Given the description of an element on the screen output the (x, y) to click on. 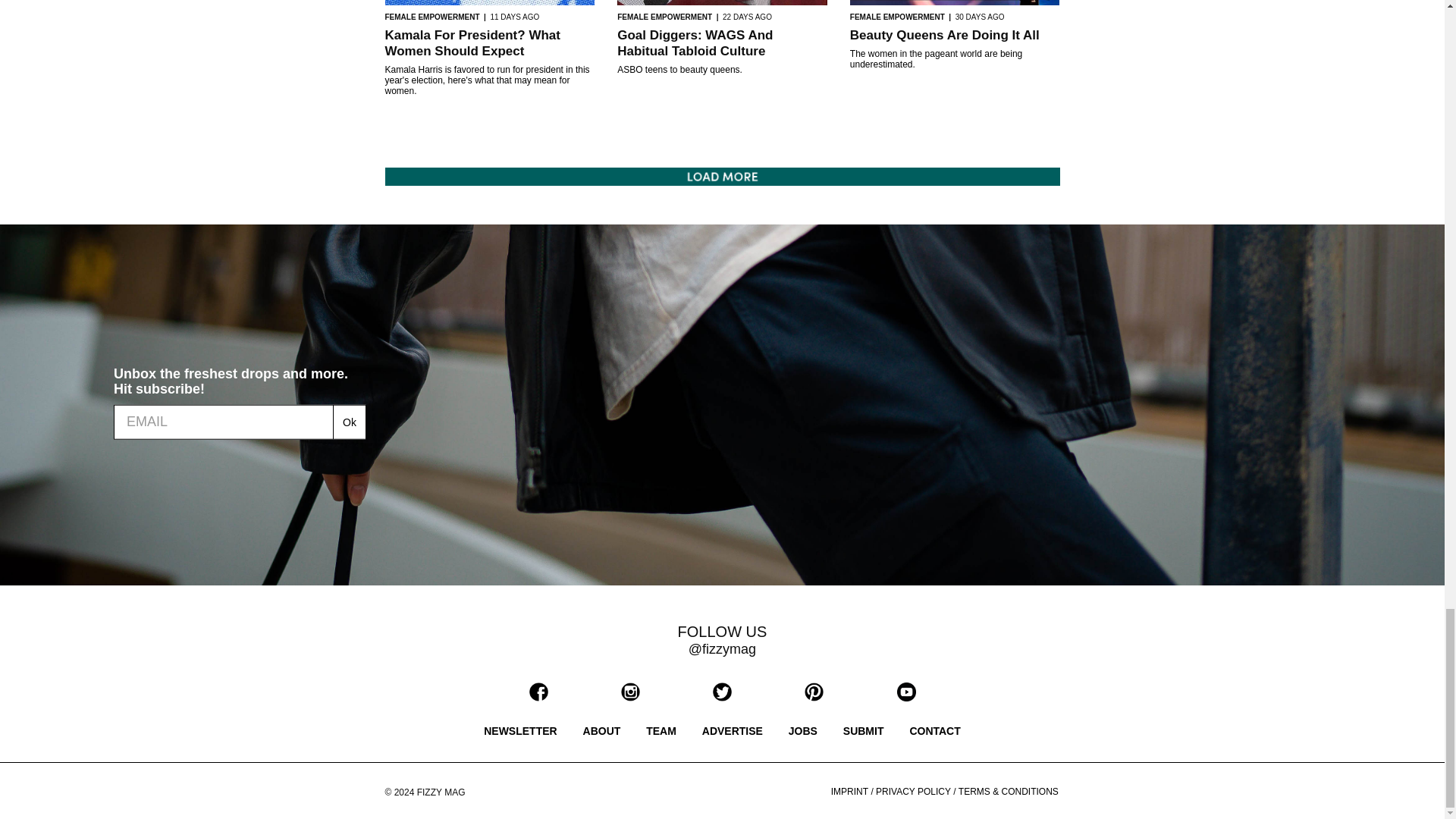
05.07.24 14:14 (979, 17)
Goal Diggers: WAGS And Habitual Tabloid Culture (695, 42)
Beauty Queens Are Doing It All (944, 34)
13.07.24 09:38 (746, 17)
Kamala For President? What Women Should Expect (472, 42)
Load More Articles (722, 175)
24.07.24 04:30 (513, 17)
